Given the description of an element on the screen output the (x, y) to click on. 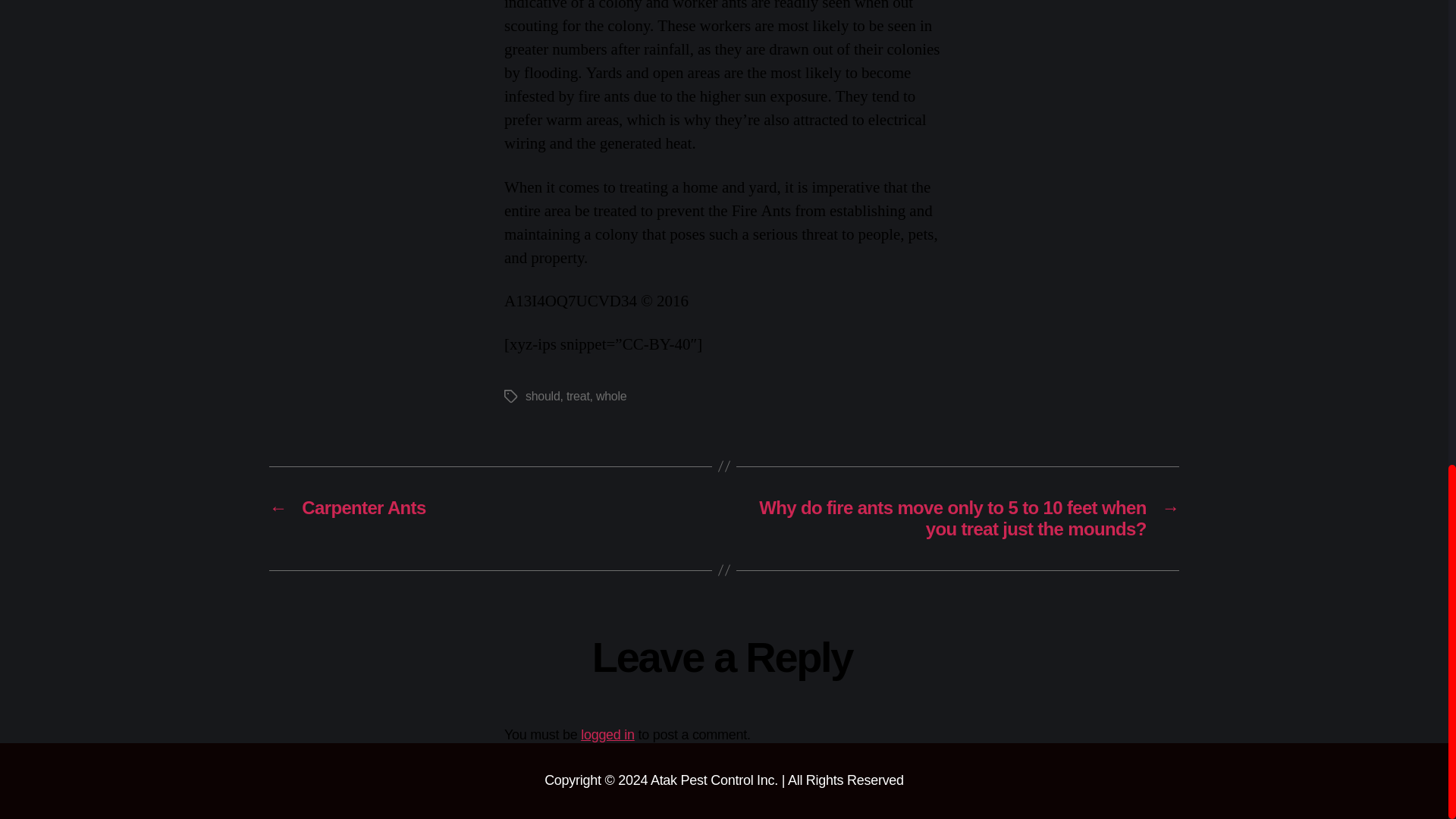
should (542, 395)
treat (577, 395)
whole (610, 395)
logged in (607, 734)
